Given the description of an element on the screen output the (x, y) to click on. 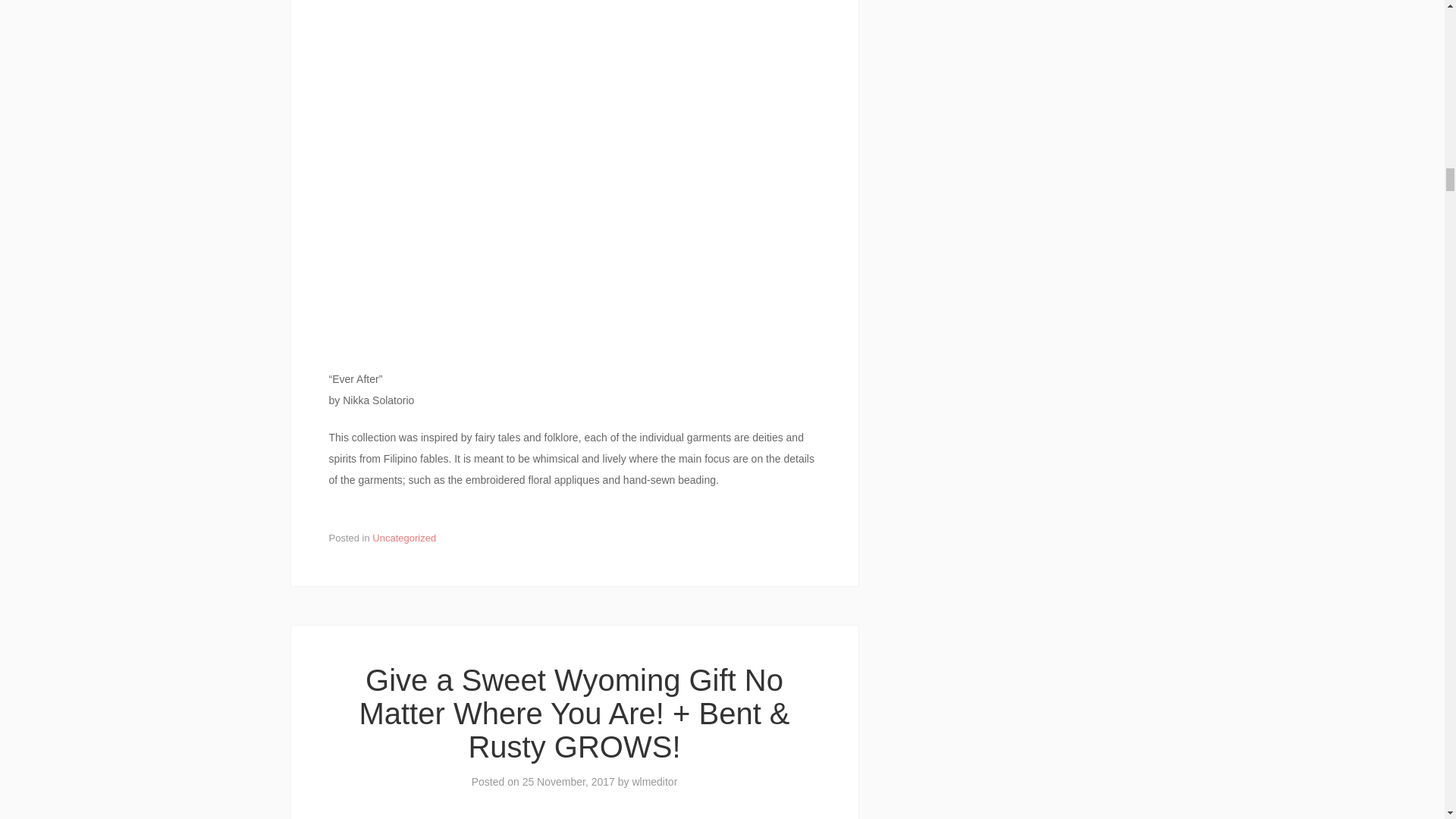
Uncategorized (403, 537)
25 November, 2017 (568, 781)
wlmeditor (654, 781)
